Given the description of an element on the screen output the (x, y) to click on. 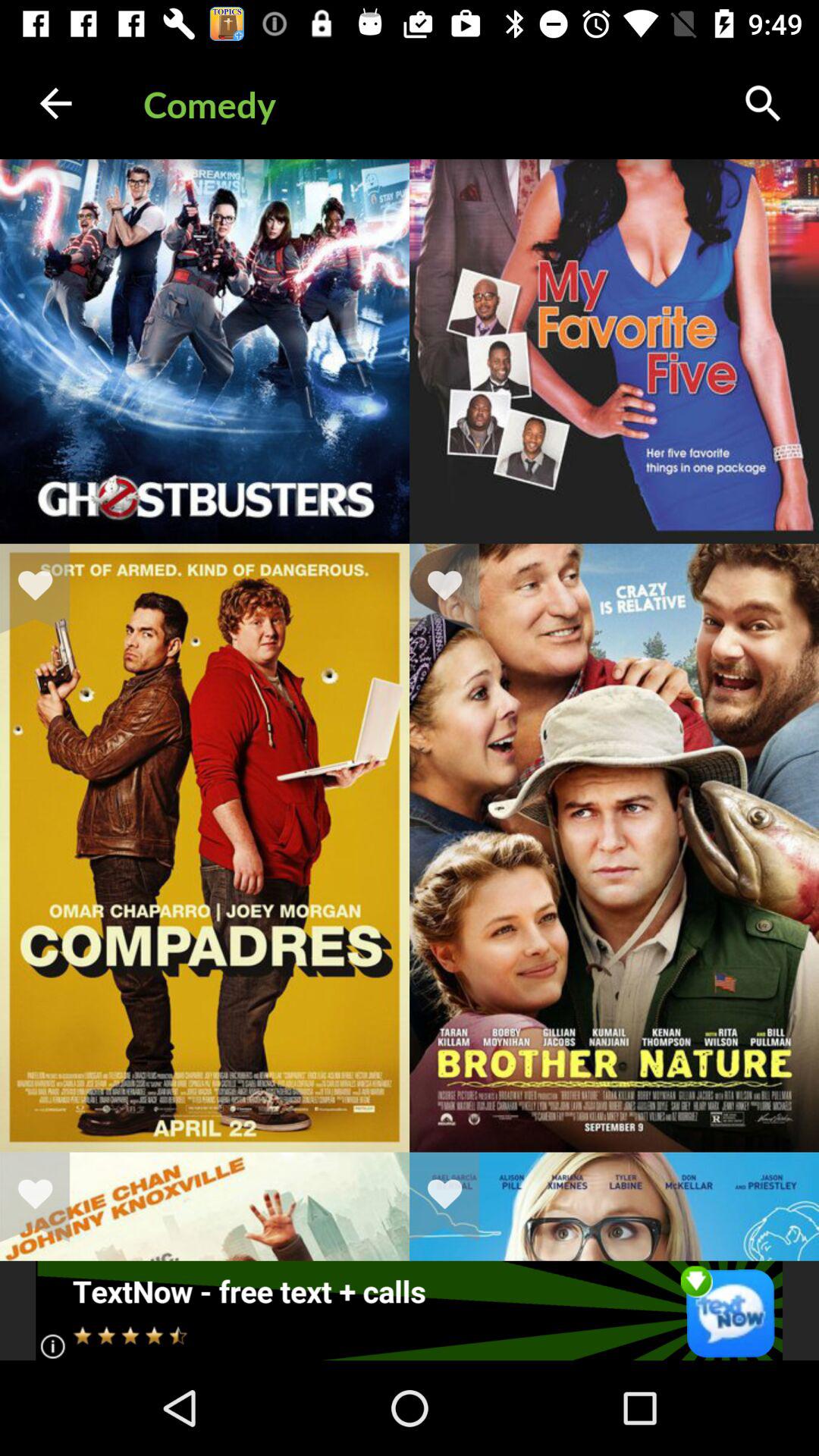
mark as favorite (44, 1197)
